Given the description of an element on the screen output the (x, y) to click on. 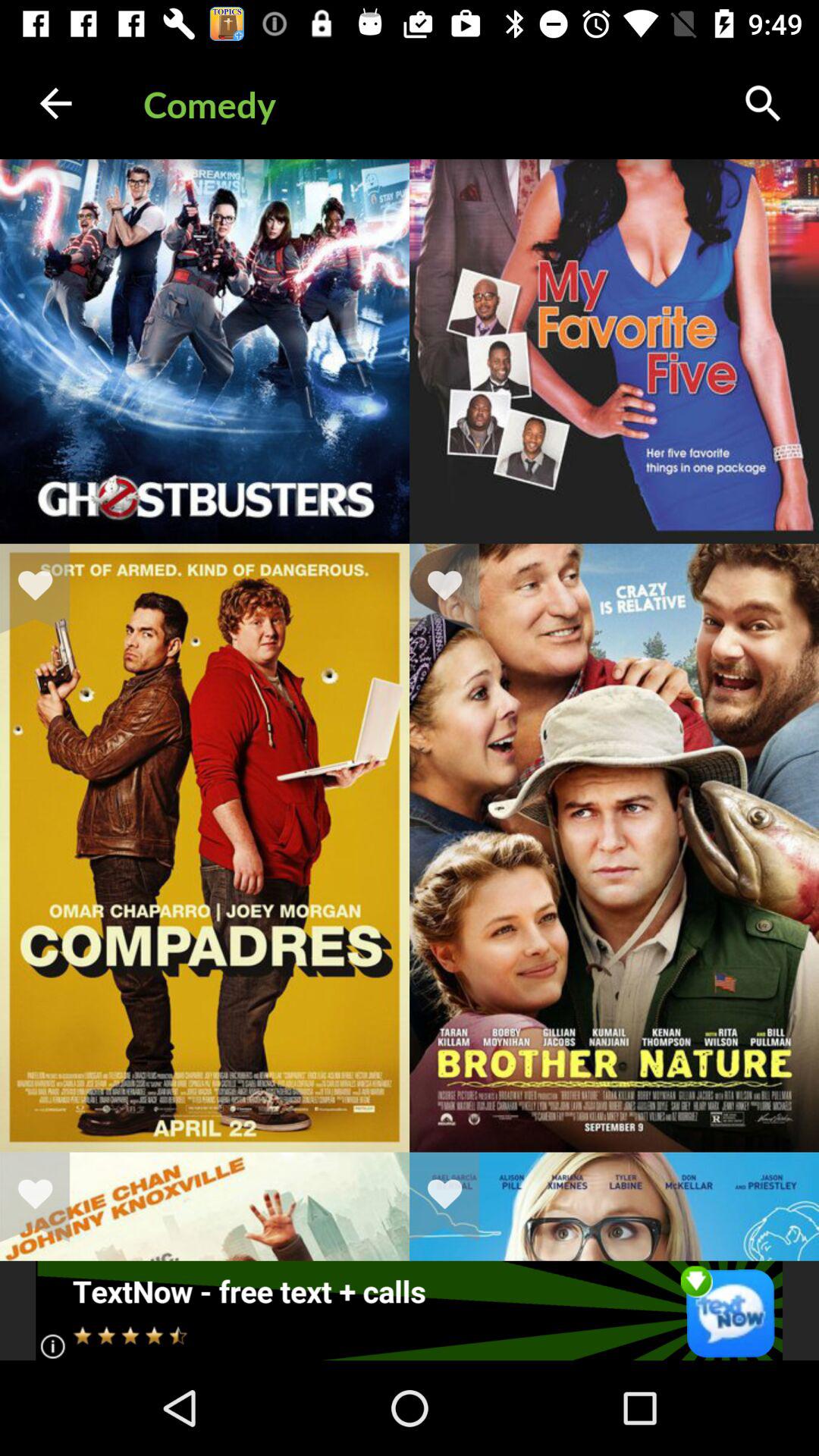
mark as favorite (44, 1197)
